Given the description of an element on the screen output the (x, y) to click on. 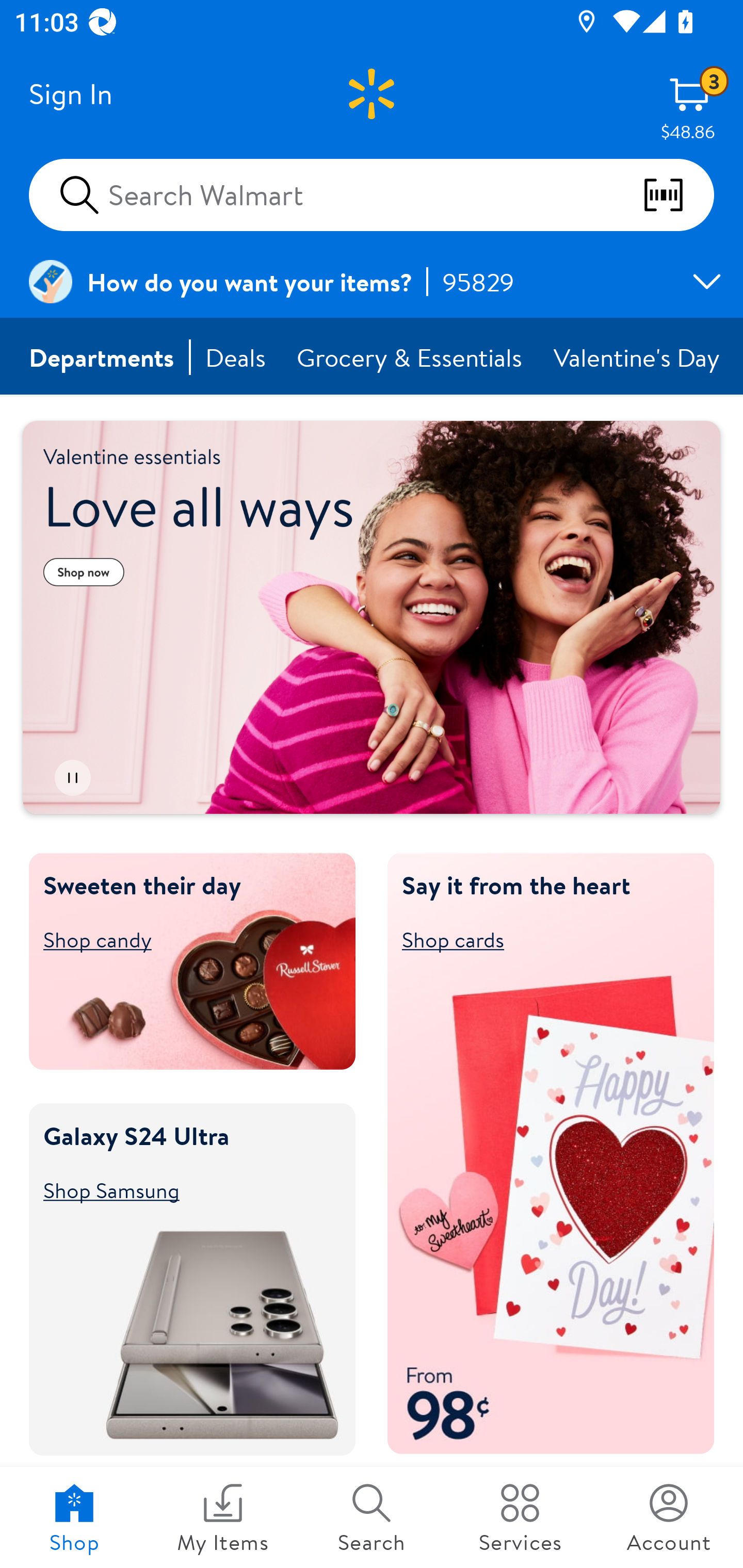
Sign In (70, 93)
Search Walmart scan barcodes qr codes and more (371, 194)
scan barcodes qr codes and more (677, 195)
Departments (102, 357)
Deals (236, 357)
Grocery & Essentials (410, 357)
Valentine's Day (637, 357)
Pause (72, 777)
Shop candy Shop candy Sweeten their day (183, 939)
Shop cards Shop cards Say it from the heart (541, 939)
Shop Samsung Shop Samsung Galaxy S24 Ultra (183, 1190)
My Items (222, 1517)
Search (371, 1517)
Services (519, 1517)
Account (668, 1517)
